Given the description of an element on the screen output the (x, y) to click on. 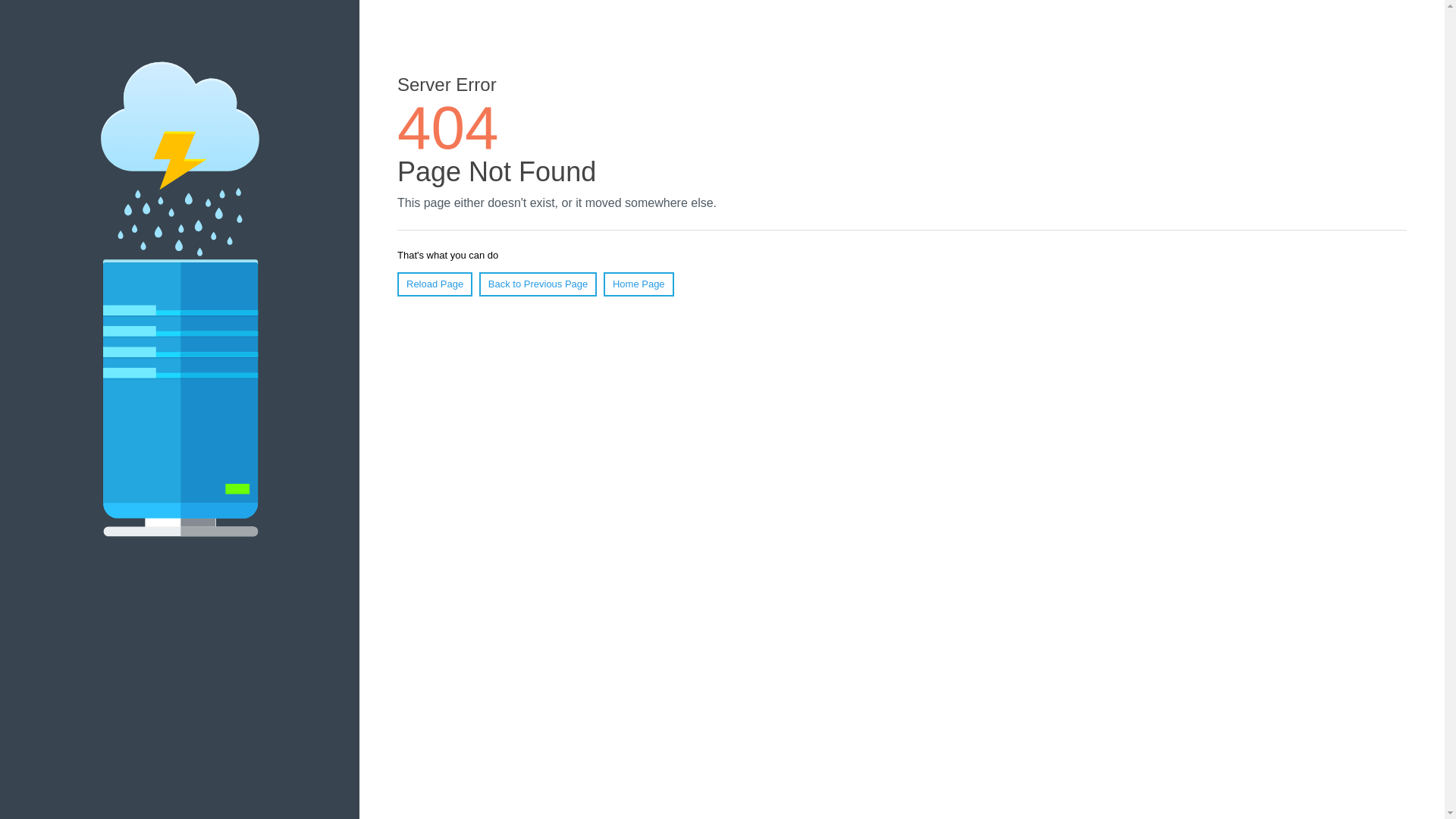
Home Page Element type: text (638, 284)
Back to Previous Page Element type: text (538, 284)
Reload Page Element type: text (434, 284)
